Given the description of an element on the screen output the (x, y) to click on. 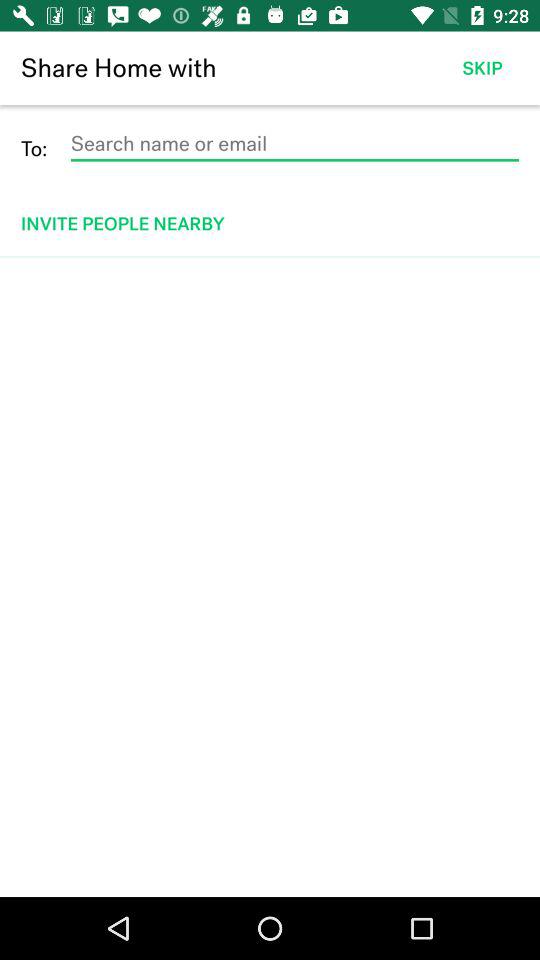
enter the name or email (294, 144)
